Given the description of an element on the screen output the (x, y) to click on. 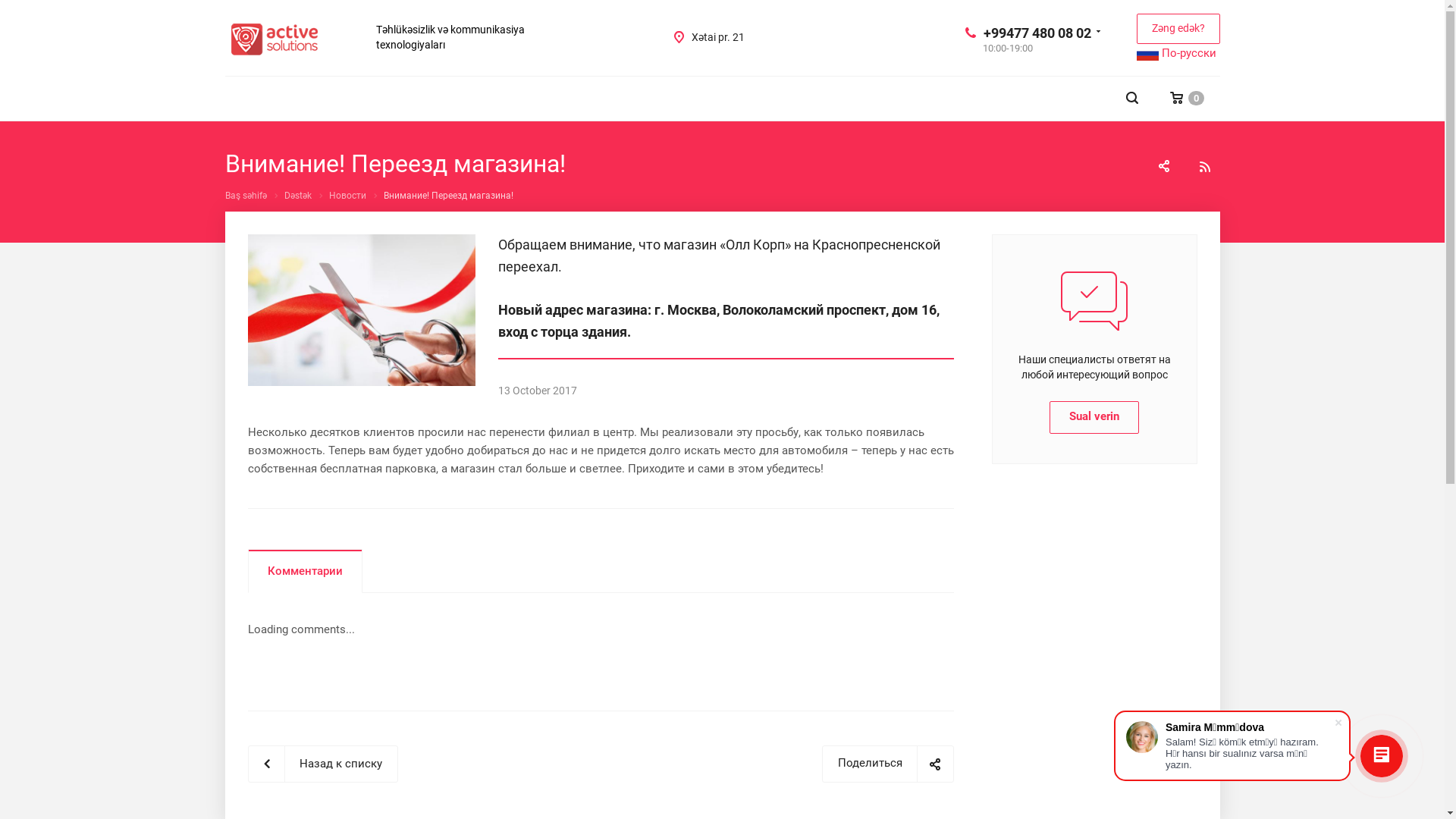
+99477 480 08 02 Element type: text (1036, 32)
Active solutions Element type: hover (274, 38)
0 Element type: text (1187, 97)
RSS Element type: text (1204, 166)
